Given the description of an element on the screen output the (x, y) to click on. 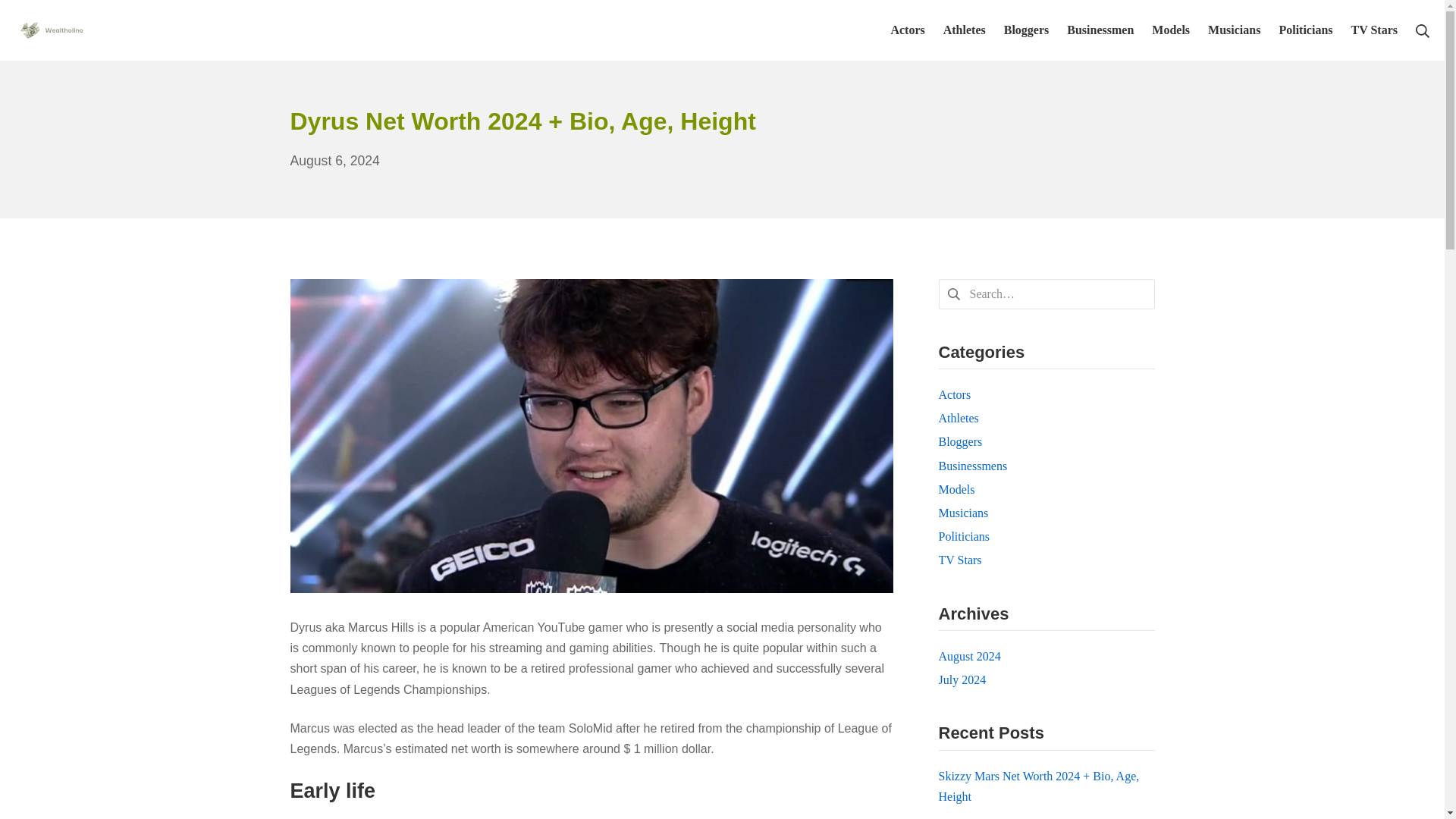
Search (33, 15)
Models (957, 489)
Businessmen (1100, 29)
Athletes (958, 418)
Musicians (1234, 29)
Politicians (1305, 29)
Bloggers (960, 440)
Businessmens (973, 465)
TV Stars (1374, 29)
Athletes (964, 29)
